Given the description of an element on the screen output the (x, y) to click on. 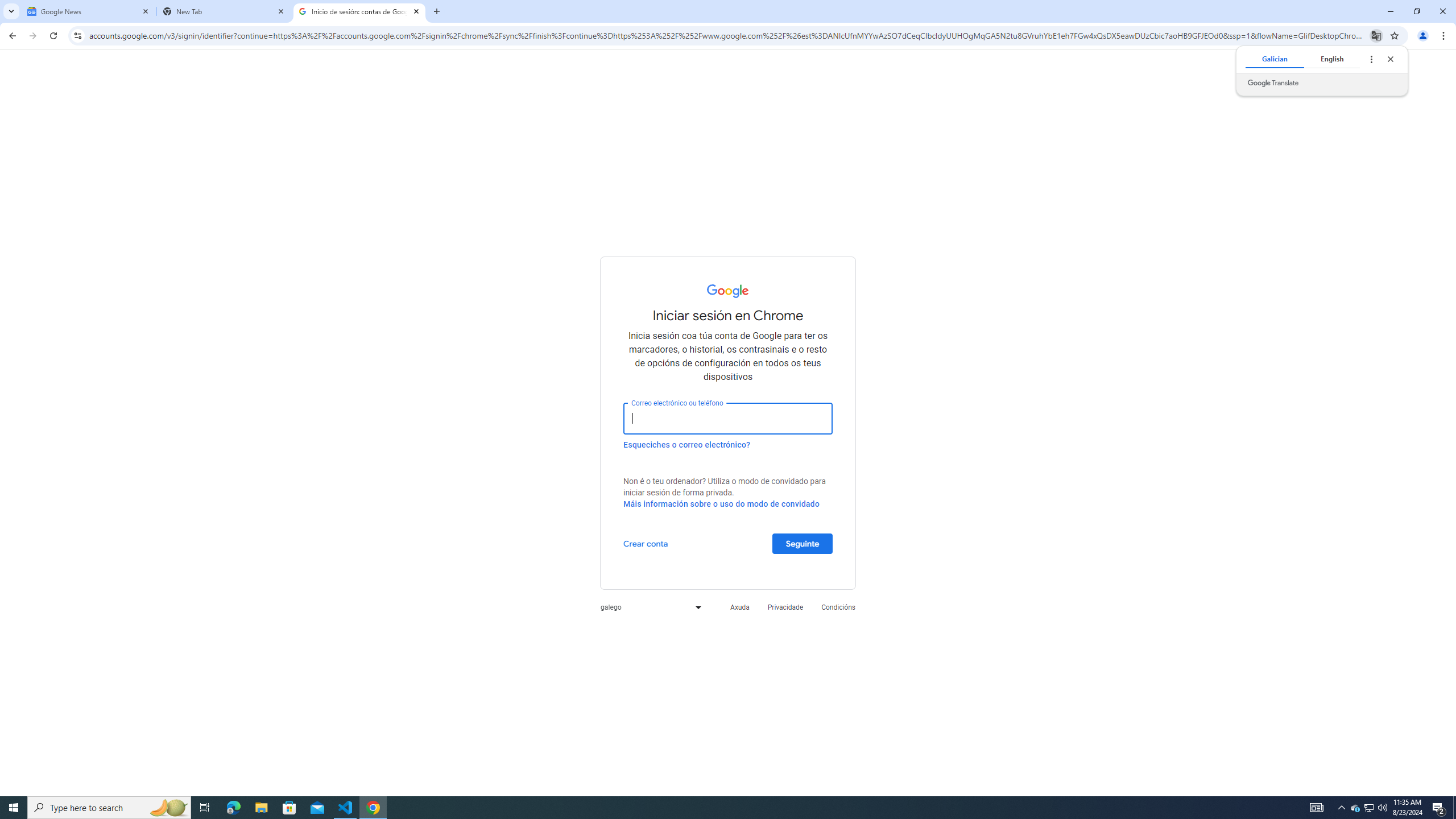
galego (647, 606)
Translate this page (1376, 35)
Privacidade (785, 606)
Galician (1274, 58)
English (1331, 58)
Translate options (1370, 58)
